Given the description of an element on the screen output the (x, y) to click on. 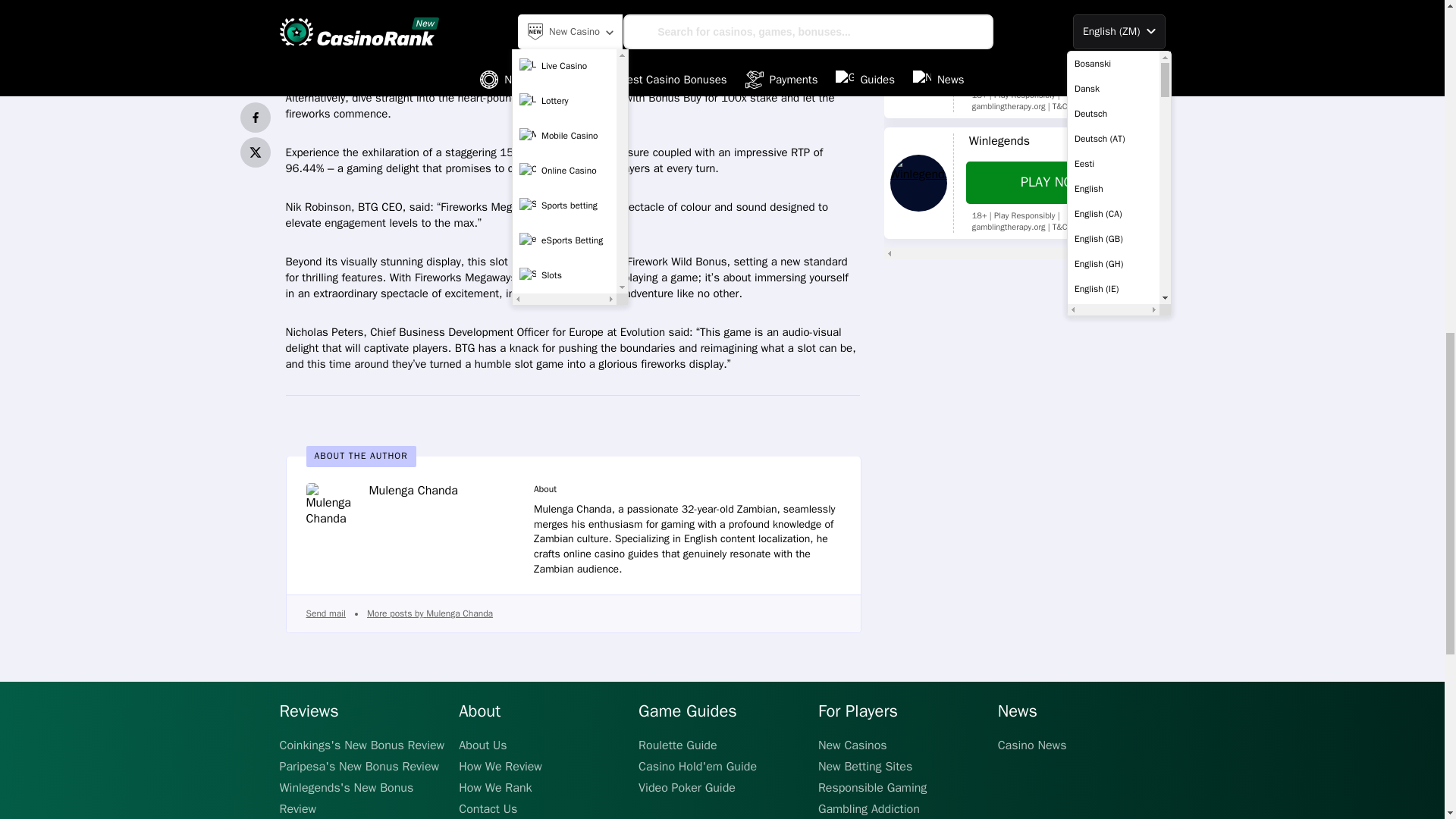
Hrvatski (1113, 4)
